Given the description of an element on the screen output the (x, y) to click on. 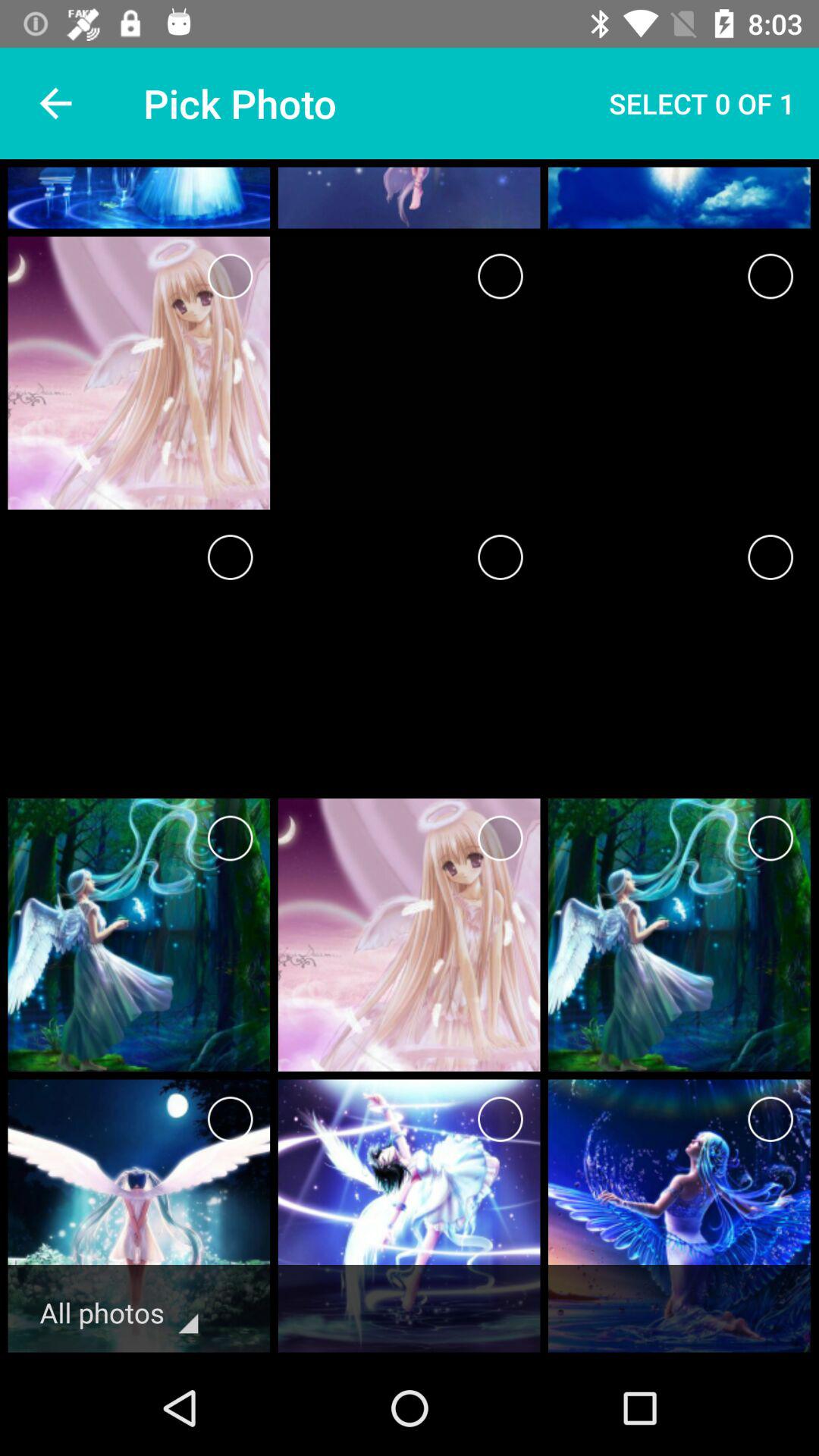
delete this one picture (500, 557)
